Given the description of an element on the screen output the (x, y) to click on. 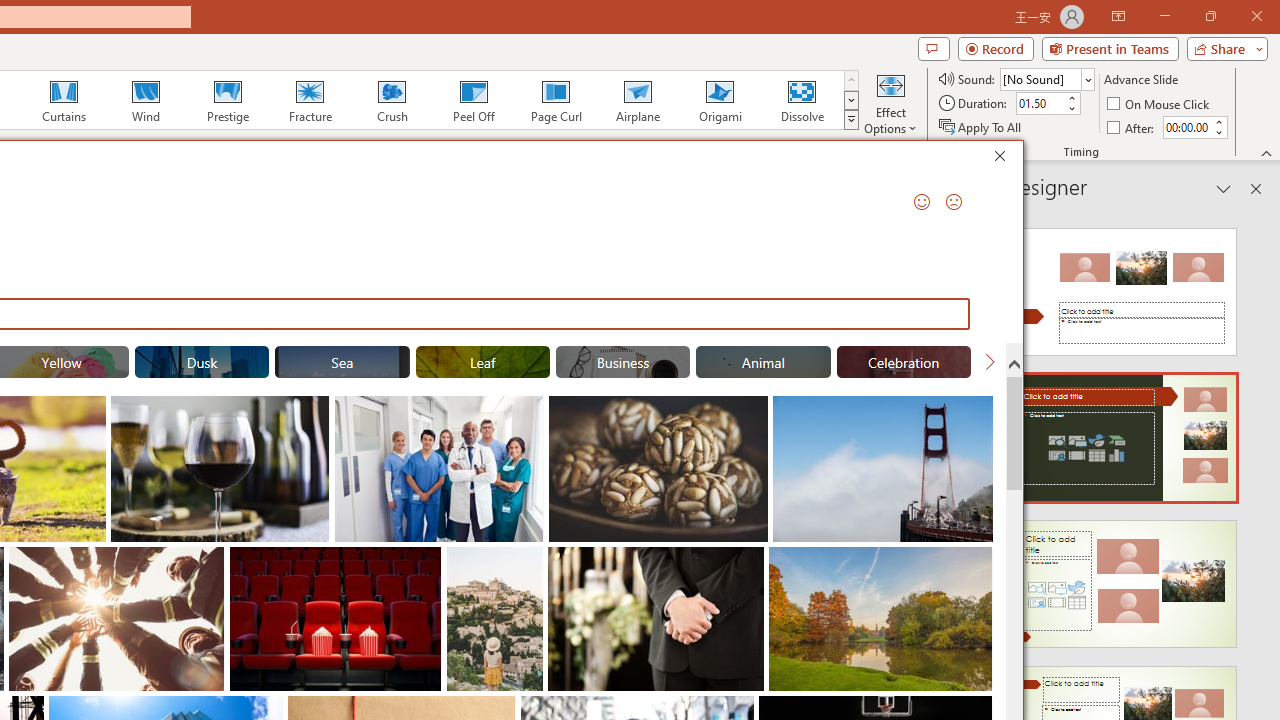
Less (1218, 132)
"Leaf" Stock Images. (483, 362)
After (1131, 126)
Open (1087, 79)
Transition Effects (850, 120)
Airplane (637, 100)
Send a Frown (954, 201)
Row Down (850, 100)
Curtains (63, 100)
"Animal" Stock Images. (763, 362)
"Celebration" Stock Images. (904, 362)
